Given the description of an element on the screen output the (x, y) to click on. 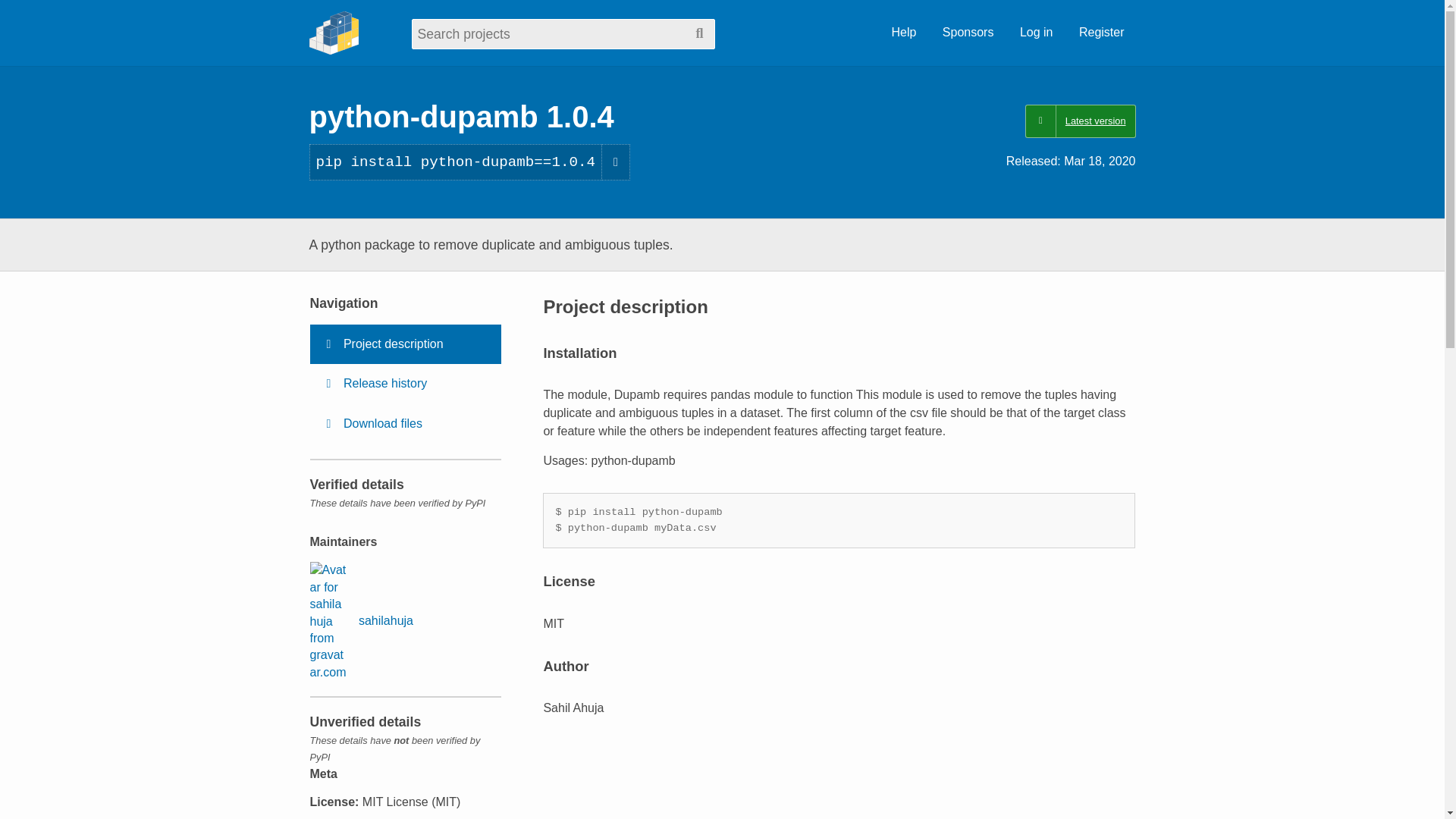
Latest version (1080, 121)
Download files (404, 423)
Project description (404, 343)
Search (699, 33)
Register (1101, 32)
Release history (404, 383)
Sponsors (968, 32)
